Given the description of an element on the screen output the (x, y) to click on. 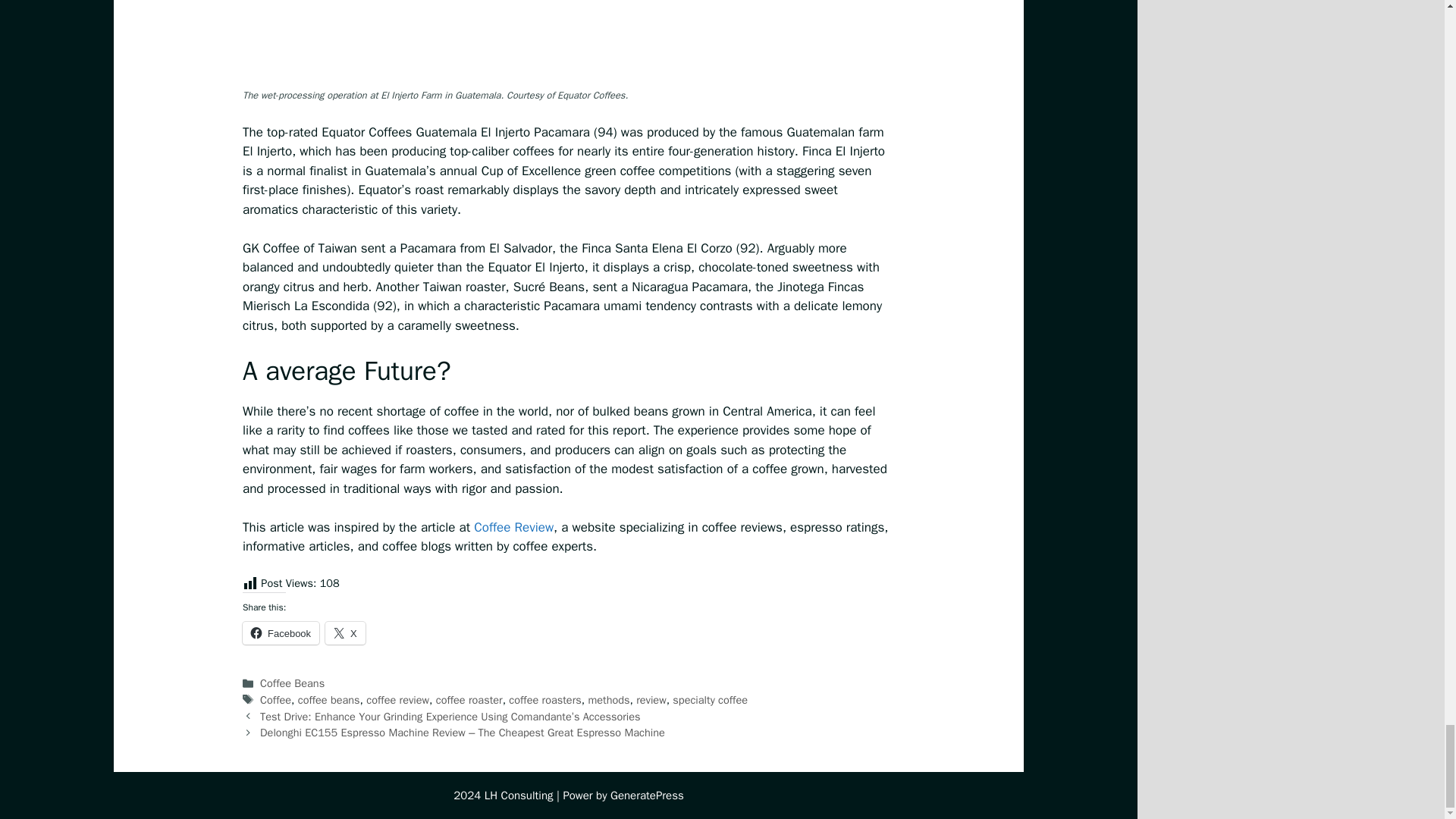
specialty coffee (710, 699)
LH Consulting (518, 795)
coffee beans (328, 699)
coffee roasters (544, 699)
Click to share on X (344, 632)
review (651, 699)
Coffee Review (513, 527)
GeneratePress (647, 795)
coffee roaster (468, 699)
Coffee (275, 699)
